Given the description of an element on the screen output the (x, y) to click on. 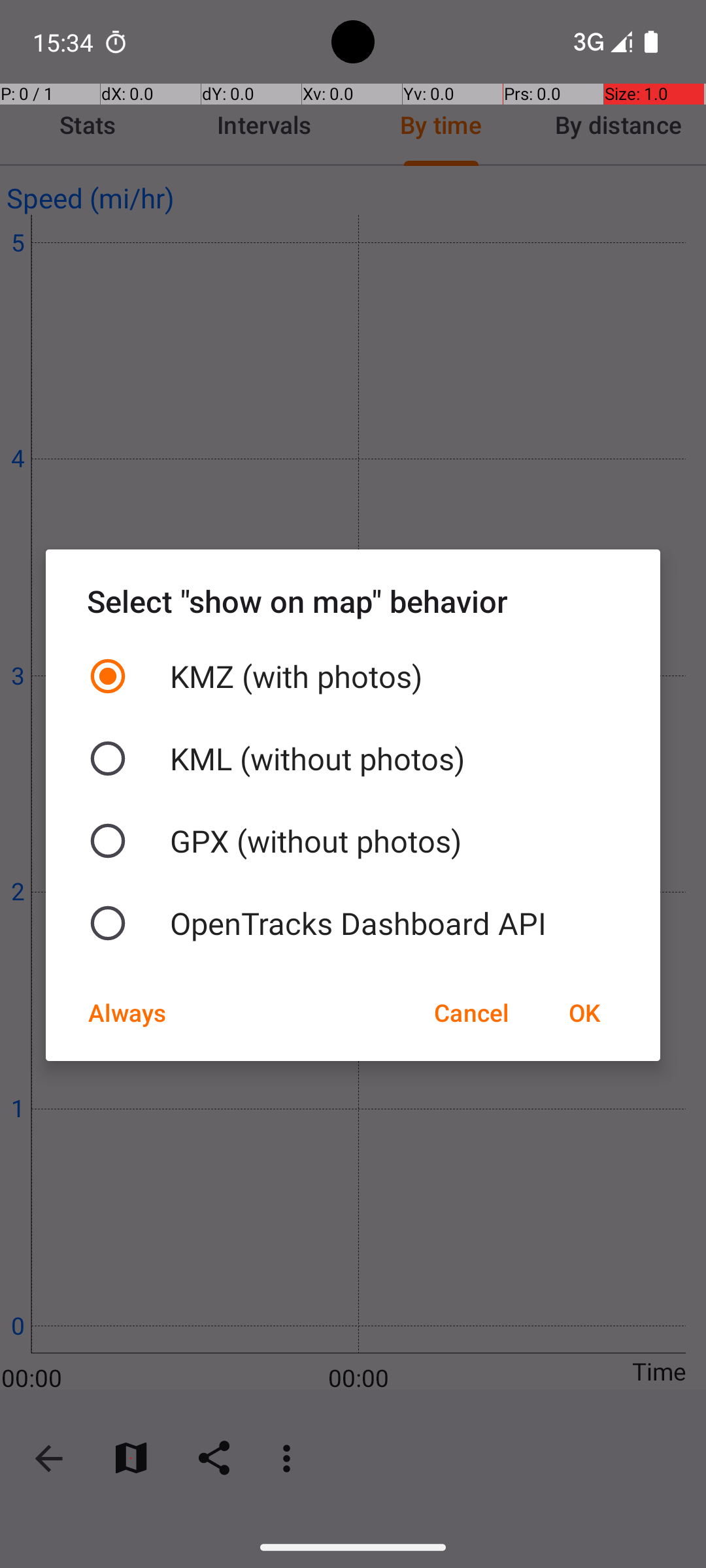
Select "show on map" behavior Element type: android.widget.TextView (352, 600)
KMZ (with photos) Element type: android.widget.CheckedTextView (352, 676)
KML (without photos) Element type: android.widget.CheckedTextView (352, 758)
GPX (without photos) Element type: android.widget.CheckedTextView (352, 840)
OpenTracks Dashboard API Element type: android.widget.CheckedTextView (352, 923)
